Given the description of an element on the screen output the (x, y) to click on. 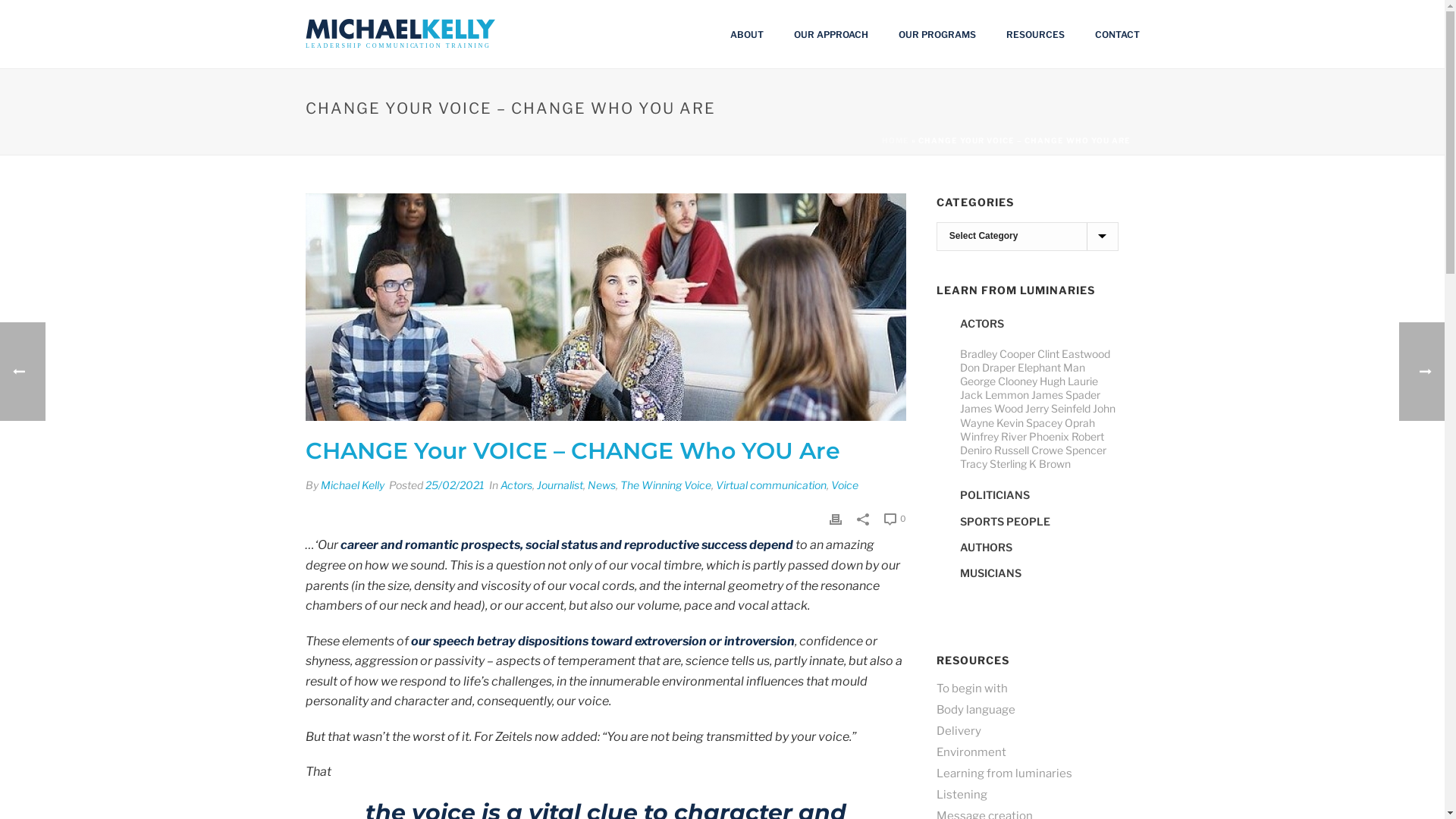
Bradley Cooper Element type: text (997, 353)
  Element type: text (604, 306)
John Wayne Element type: text (1037, 414)
HOME Element type: text (894, 139)
Spencer Tracy Element type: text (1033, 456)
Oprah Winfrey Element type: text (1027, 429)
Journalist Element type: text (559, 484)
RESOURCES Element type: text (1034, 34)
Jack Lemmon Element type: text (994, 394)
Robert Deniro Element type: text (1032, 442)
OUR APPROACH Element type: text (830, 34)
CONTACT Element type: text (1116, 34)
Print Element type: hover (835, 517)
25/02/2021 Element type: text (453, 484)
Environment Element type: text (971, 752)
Kevin Spacey Element type: text (1029, 422)
Leadership Communication Training Element type: hover (399, 33)
Body language Element type: text (975, 709)
The Winning Voice Element type: text (665, 484)
News Element type: text (600, 484)
River Phoenix Element type: text (1035, 435)
James Wood Element type: text (991, 407)
Elephant Man Element type: text (1051, 366)
Virtual communication Element type: text (770, 484)
ABOUT Element type: text (746, 34)
0 Element type: text (895, 517)
Clint Eastwood Element type: text (1073, 353)
Don Draper Element type: text (987, 366)
Delivery Element type: text (958, 730)
Michael Kelly Element type: text (351, 484)
Actors Element type: text (516, 484)
James Spader Element type: text (1065, 394)
Sterling K Brown Element type: text (1029, 463)
To begin with Element type: text (971, 688)
Listening Element type: text (961, 794)
Russell Crowe Element type: text (1027, 449)
Jerry Seinfeld Element type: text (1057, 407)
George Clooney Element type: text (998, 380)
OUR PROGRAMS Element type: text (936, 34)
Hugh Laurie Element type: text (1067, 380)
Voice Element type: text (844, 484)
Learning from luminaries Element type: text (1004, 773)
